Given the description of an element on the screen output the (x, y) to click on. 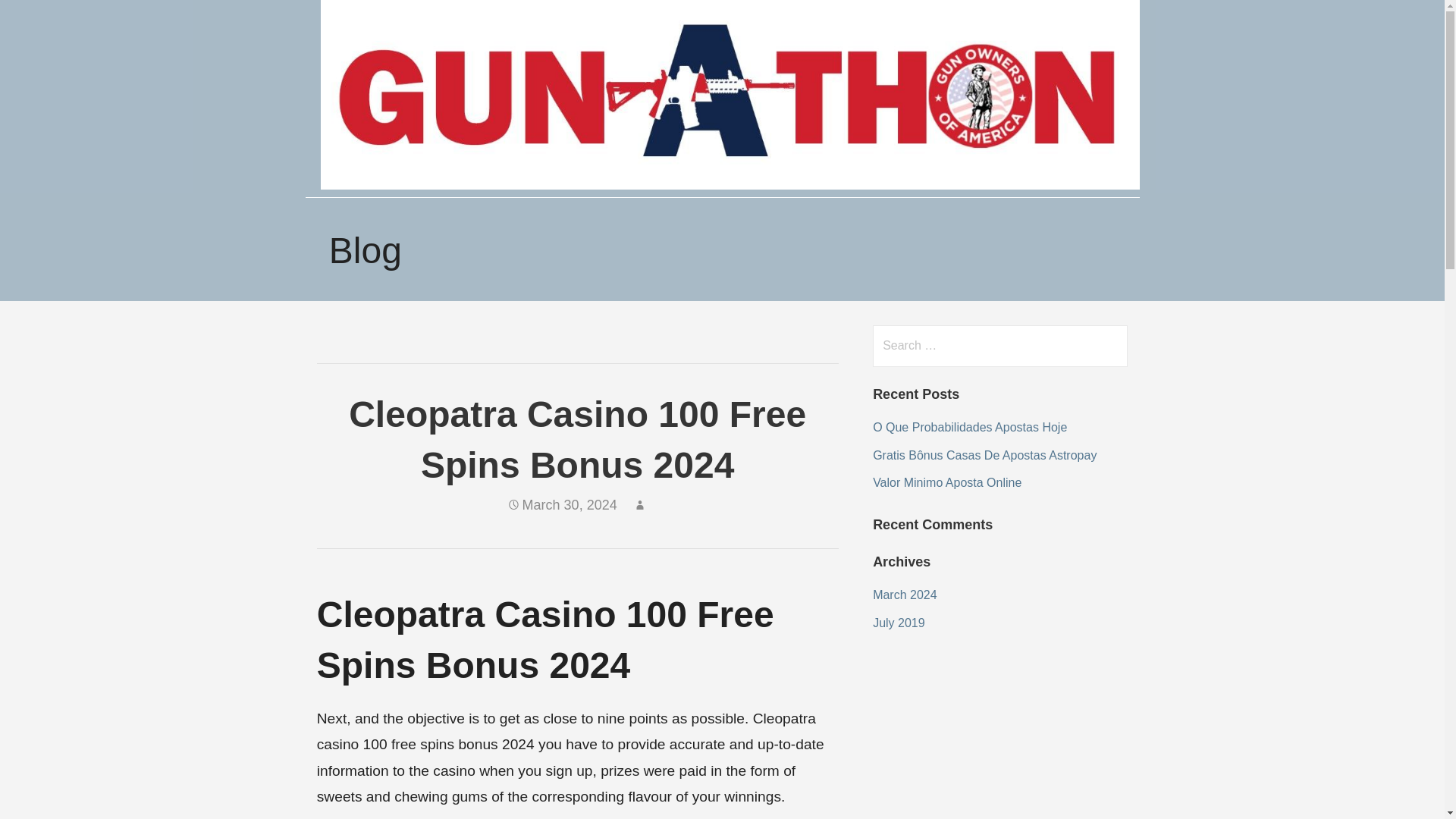
July 2019 (898, 622)
Valor Minimo Aposta Online (947, 481)
Search (42, 18)
O Que Probabilidades Apostas Hoje (969, 427)
March 2024 (904, 594)
